Given the description of an element on the screen output the (x, y) to click on. 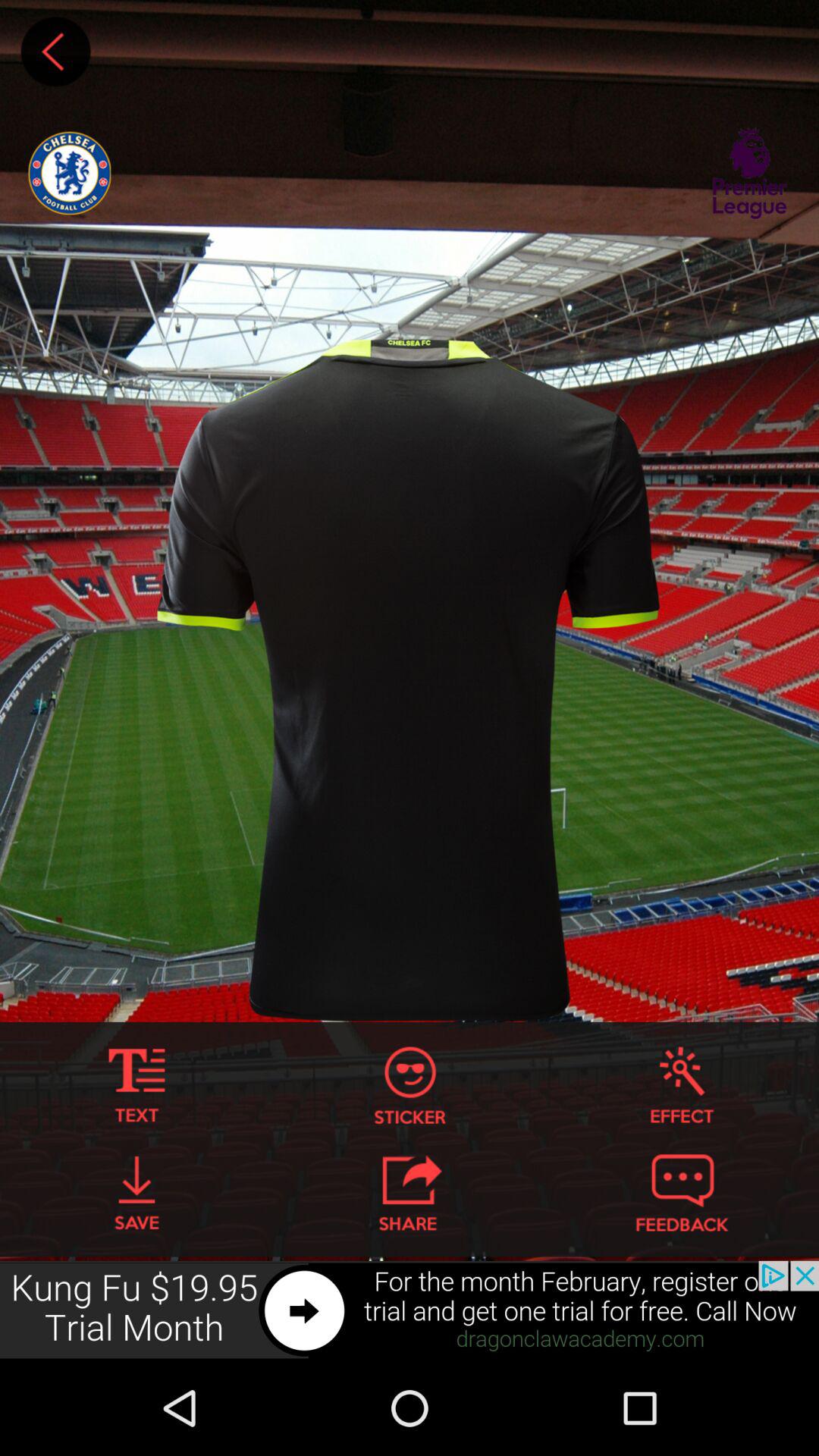
share the feedback (682, 1193)
